Given the description of an element on the screen output the (x, y) to click on. 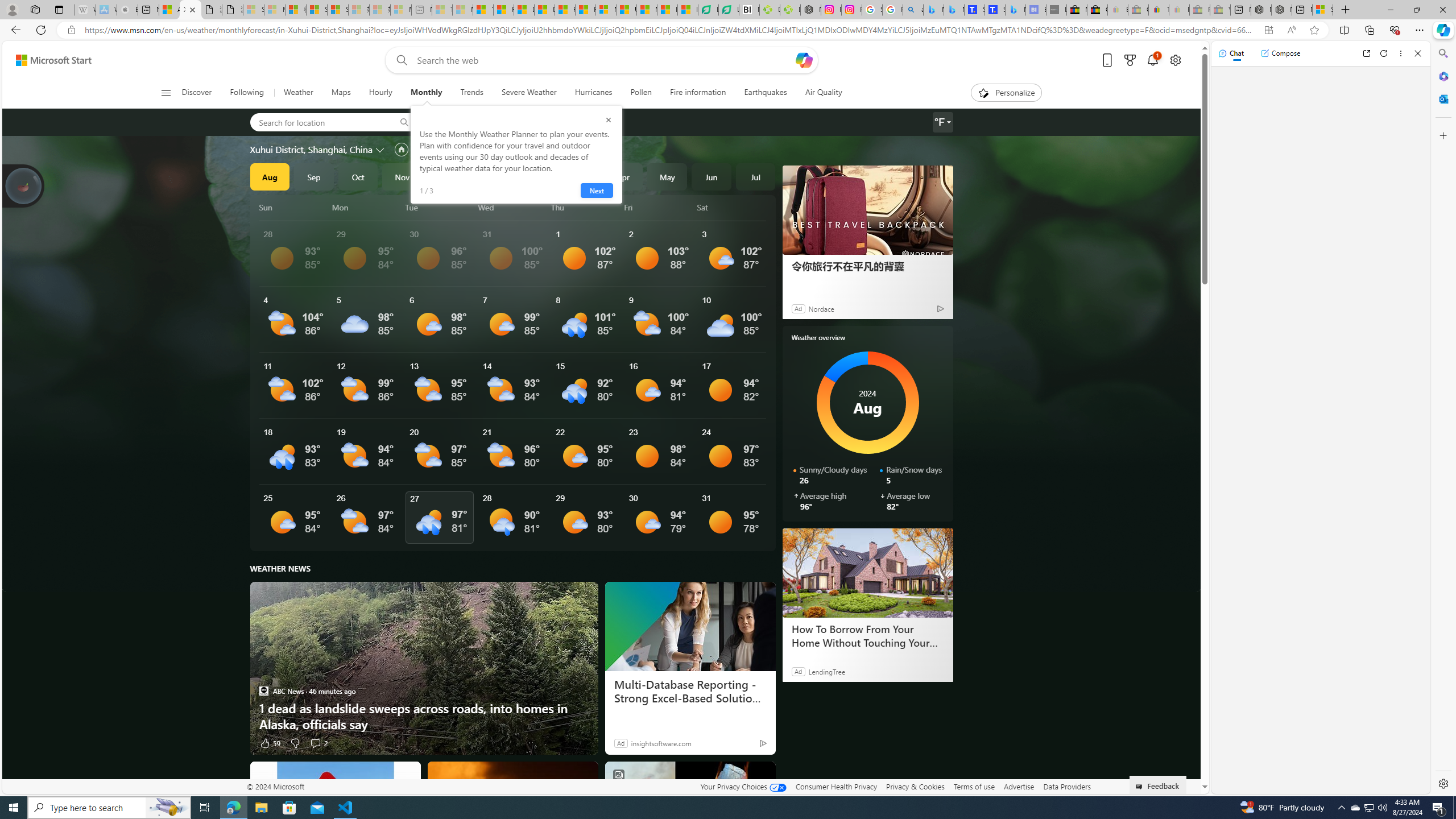
Microsoft Bing Travel - Shangri-La Hotel Bangkok (1015, 9)
Oct (357, 176)
Remove location (531, 122)
